Given the description of an element on the screen output the (x, y) to click on. 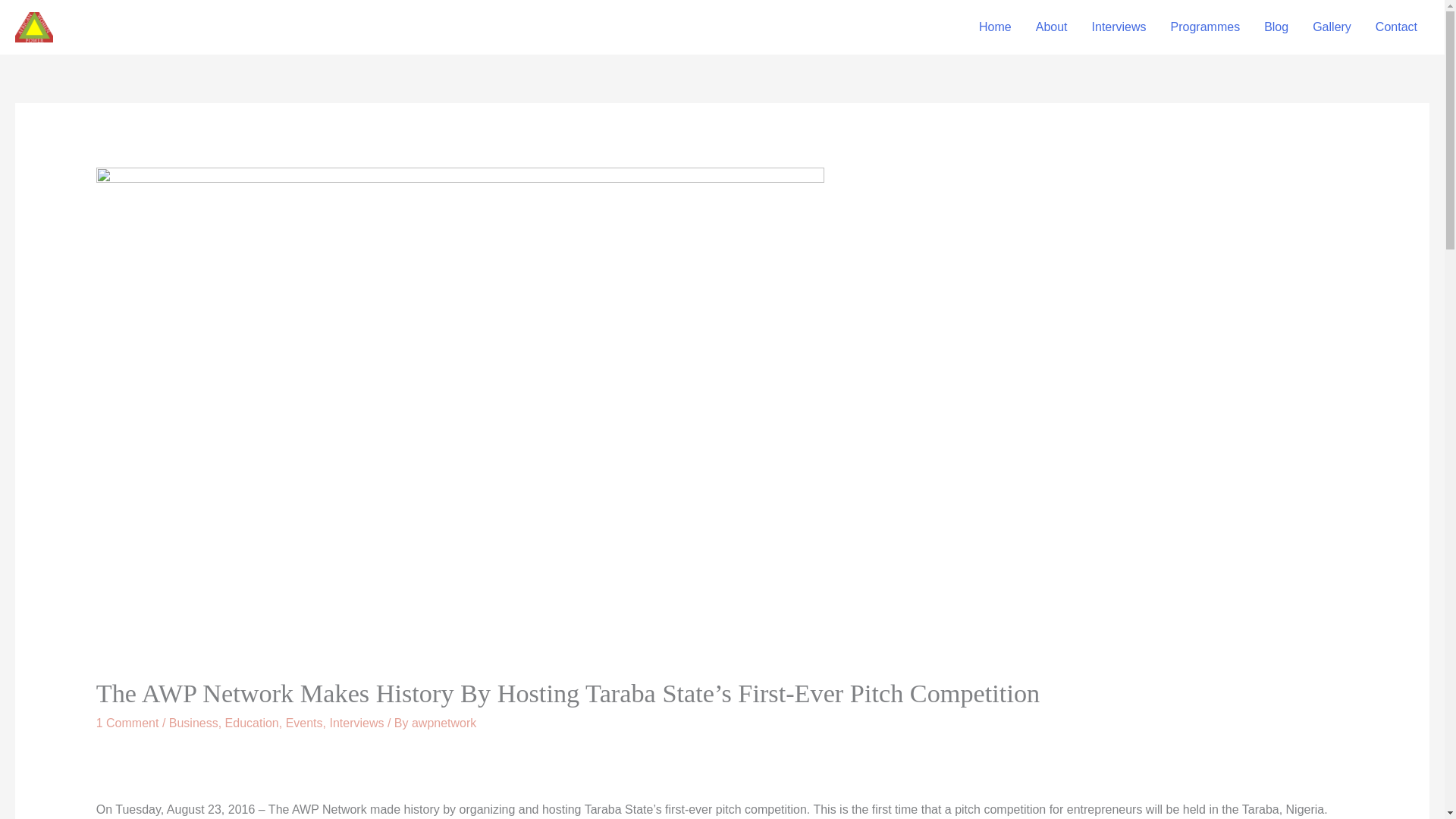
About (1051, 27)
Contact (1395, 27)
Blog (1276, 27)
View all posts by awpnetwork (444, 722)
Interviews (1119, 27)
Home (994, 27)
Gallery (1331, 27)
Programmes (1205, 27)
